Given the description of an element on the screen output the (x, y) to click on. 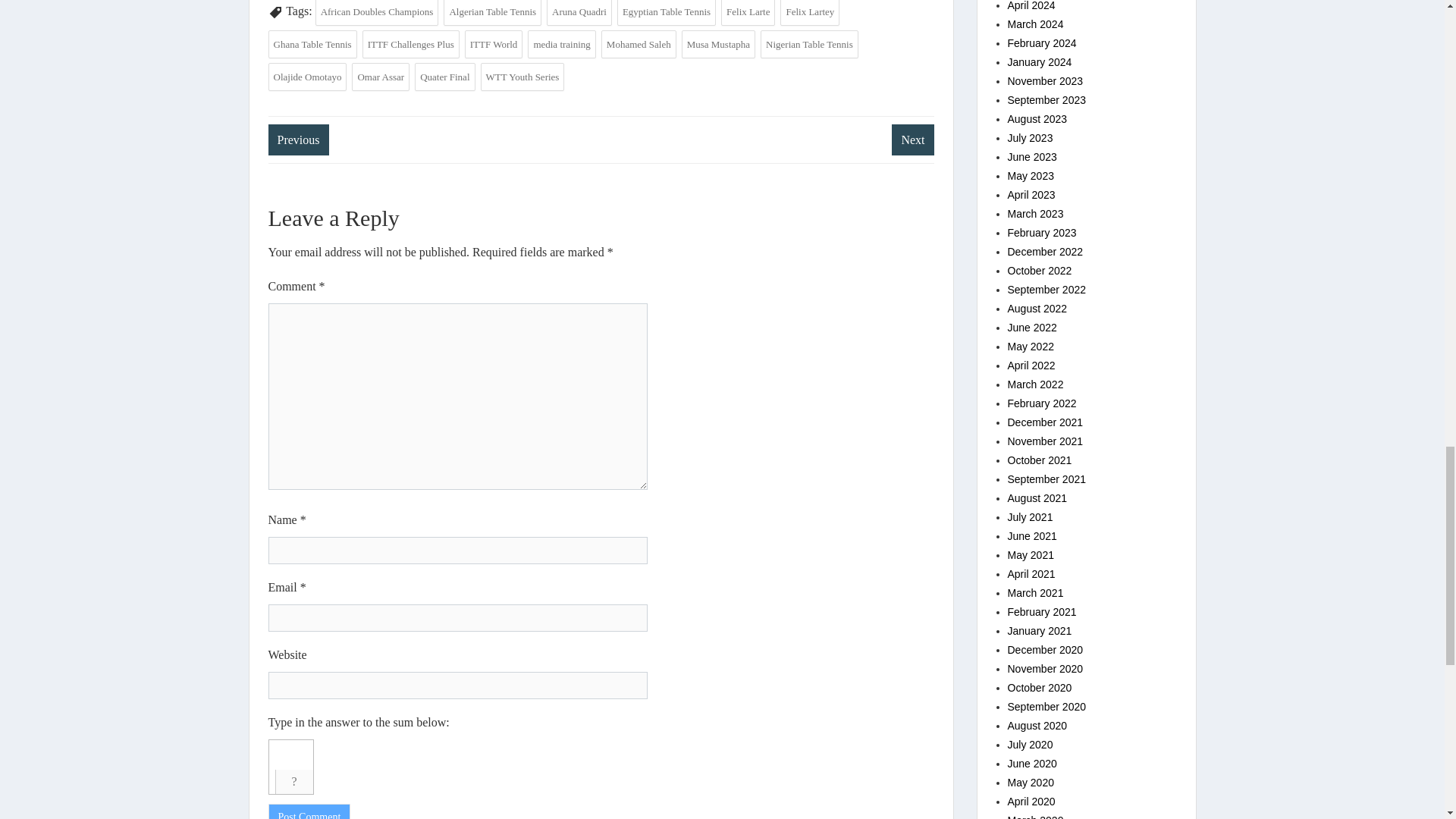
Olajide Omotayo (307, 76)
Aruna Quadri (579, 12)
Algerian Table Tennis (492, 12)
Post Comment (308, 811)
Ghana Table Tennis (311, 44)
Egyptian Table Tennis (666, 12)
Omar Assar (380, 76)
Felix Larte (747, 12)
ITTF Challenges Plus (411, 44)
Nigerian Table Tennis (809, 44)
Mohamed Saleh (639, 44)
media training (561, 44)
Felix Lartey (810, 12)
African Doubles Champions (377, 12)
ITTF World (493, 44)
